Given the description of an element on the screen output the (x, y) to click on. 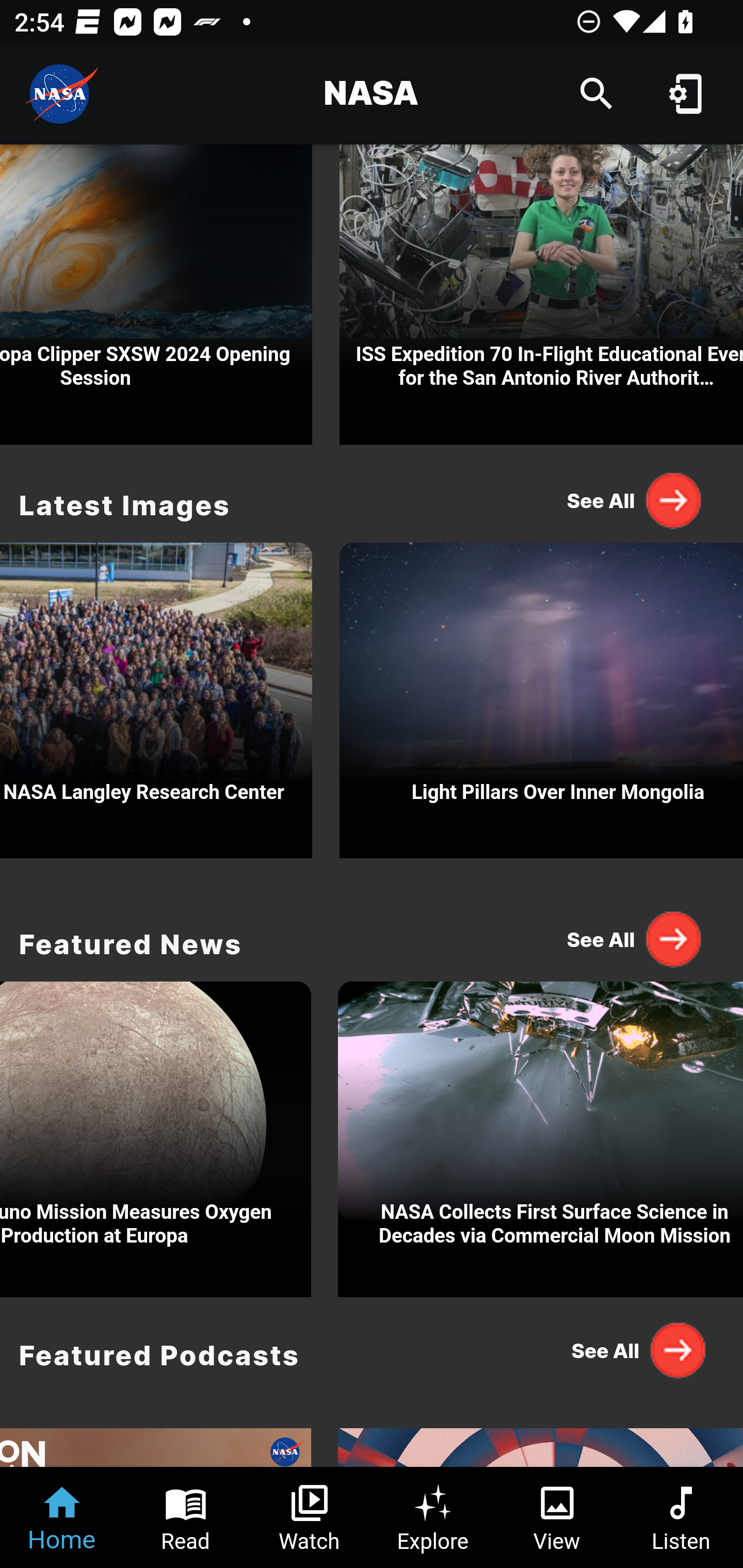
NASA's Europa Clipper SXSW 2024 Opening Session (156, 294)
See All (634, 500)
Women of NASA Langley Research Center (156, 695)
Light Pillars Over Inner Mongolia (541, 695)
See All (634, 938)
See All (634, 1349)
Home
Tab 1 of 6 (62, 1517)
Read
Tab 2 of 6 (185, 1517)
Watch
Tab 3 of 6 (309, 1517)
Explore
Tab 4 of 6 (433, 1517)
View
Tab 5 of 6 (556, 1517)
Listen
Tab 6 of 6 (680, 1517)
